Given the description of an element on the screen output the (x, y) to click on. 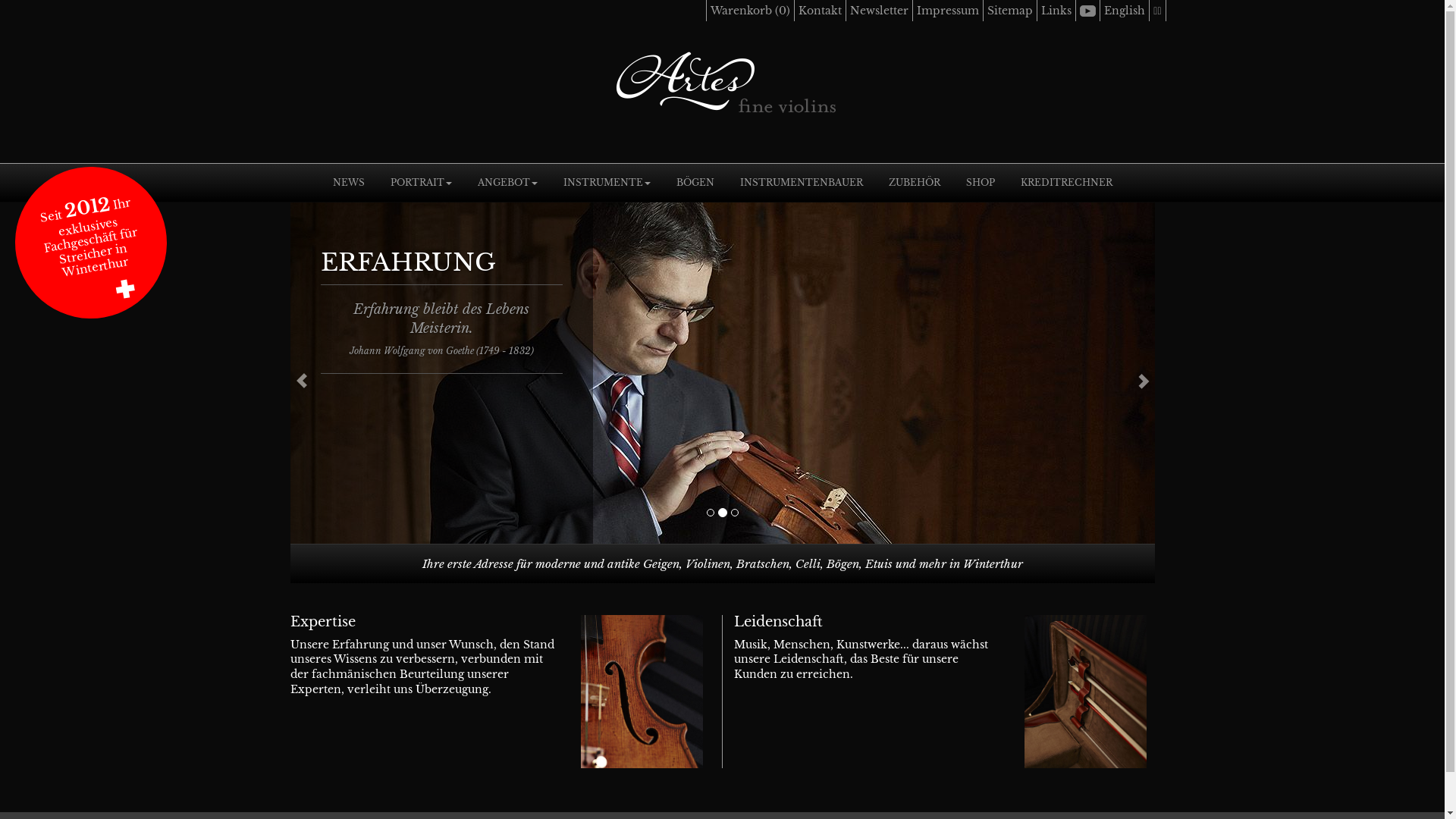
English Element type: text (1124, 10)
INSTRUMENTENBAUER Element type: text (800, 182)
Sitemap Element type: text (1009, 10)
ANGEBOT Element type: text (506, 182)
zur Startseite Element type: hover (722, 80)
SHOP Element type: text (979, 182)
INSTRUMENTE Element type: text (607, 182)
KREDITRECHNER Element type: text (1065, 182)
Impressum Element type: text (947, 10)
Newsletter Element type: text (879, 10)
PORTRAIT Element type: text (421, 182)
Links Element type: text (1056, 10)
Kontakt Element type: text (819, 10)
Warenkorb (0) Element type: text (750, 10)
NEWS Element type: text (348, 182)
